Given the description of an element on the screen output the (x, y) to click on. 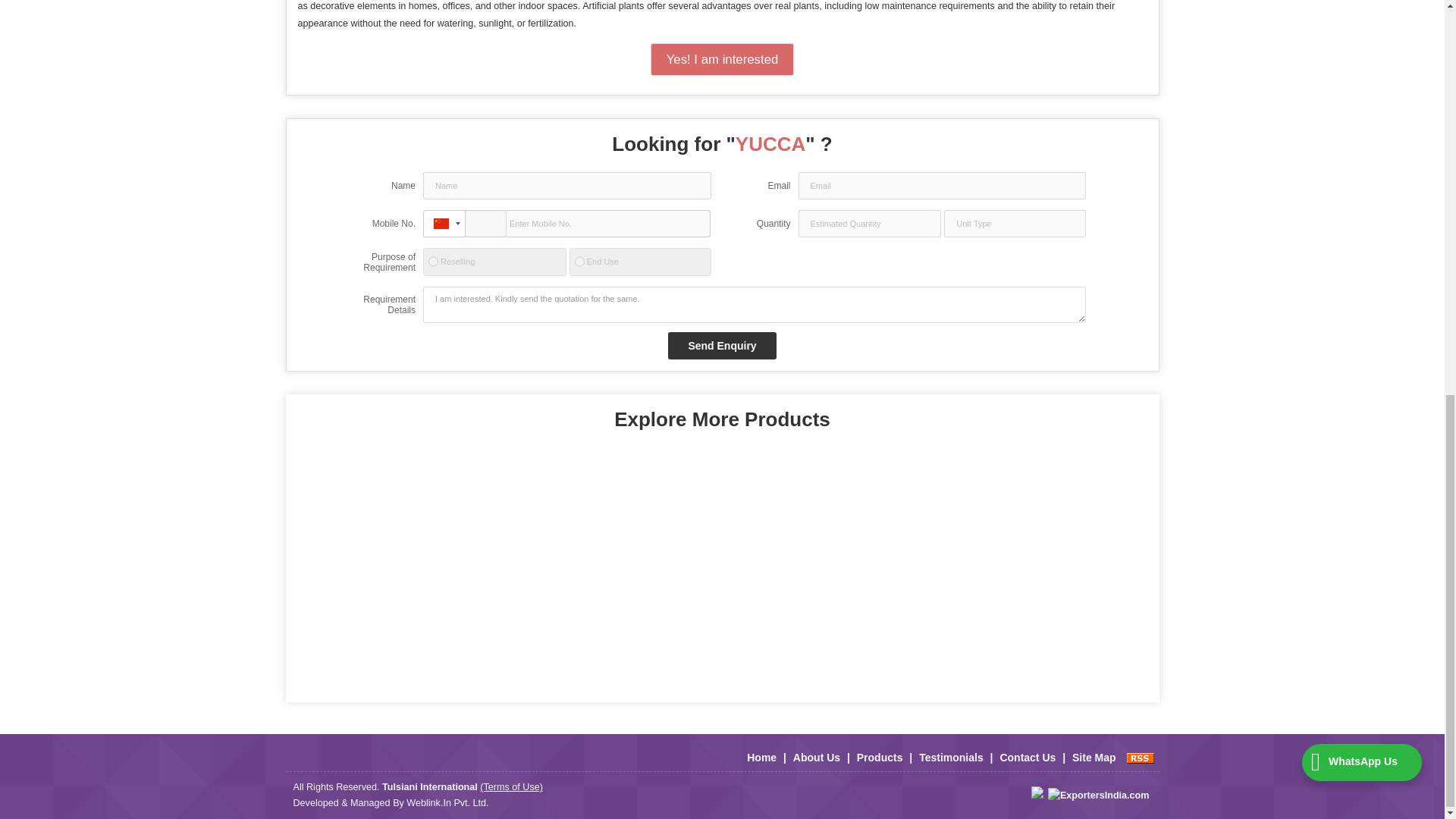
Yes! I am interested (722, 59)
Send Enquiry (722, 345)
Send Enquiry (722, 345)
